Given the description of an element on the screen output the (x, y) to click on. 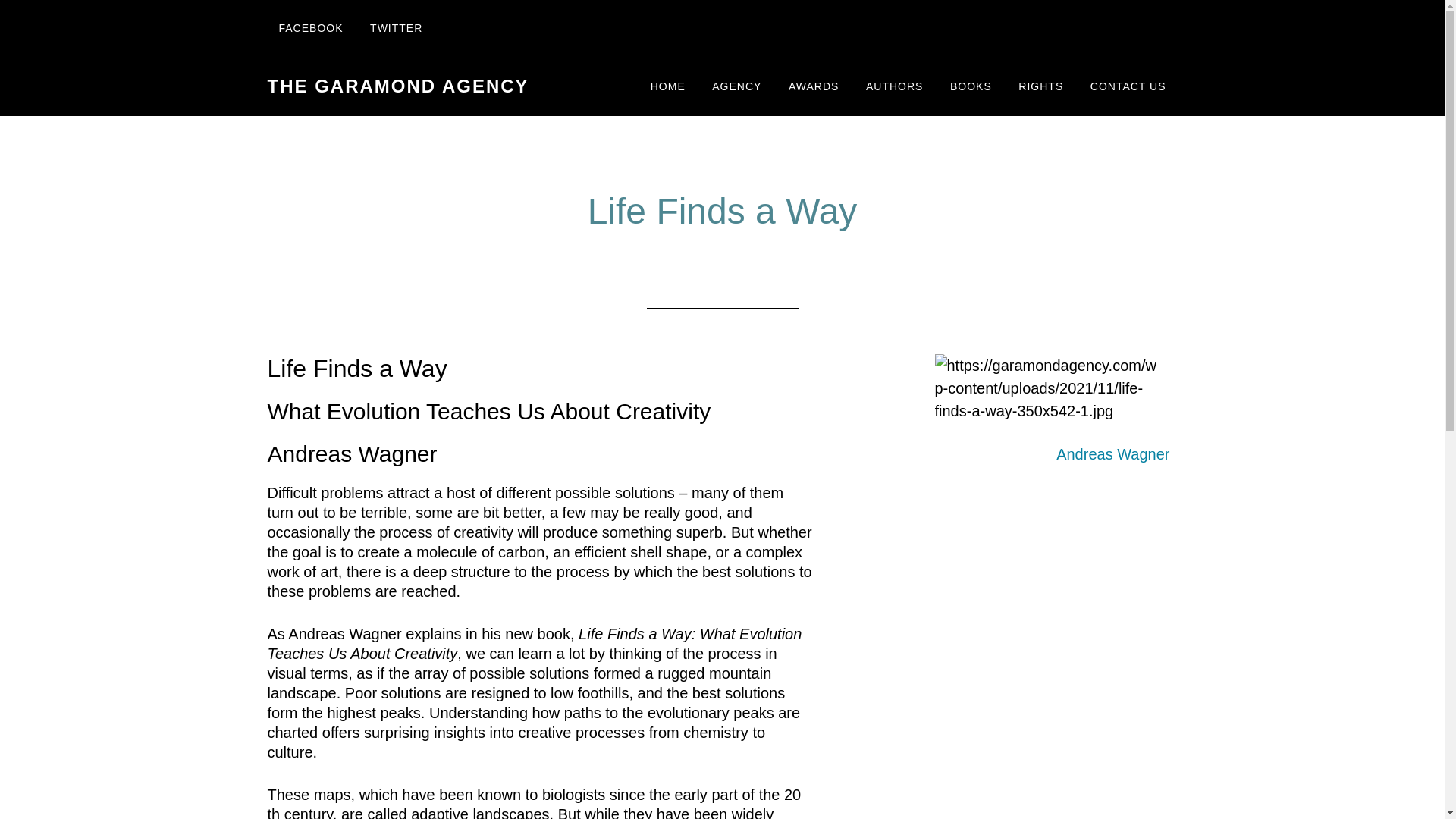
THE GARAMOND AGENCY (397, 86)
FACEBOOK (309, 28)
RIGHTS (1040, 87)
AWARDS (813, 87)
HOME (668, 87)
AUTHORS (894, 87)
CONTACT US (1127, 87)
TWITTER (395, 28)
Andreas Wagner (1113, 453)
